Given the description of an element on the screen output the (x, y) to click on. 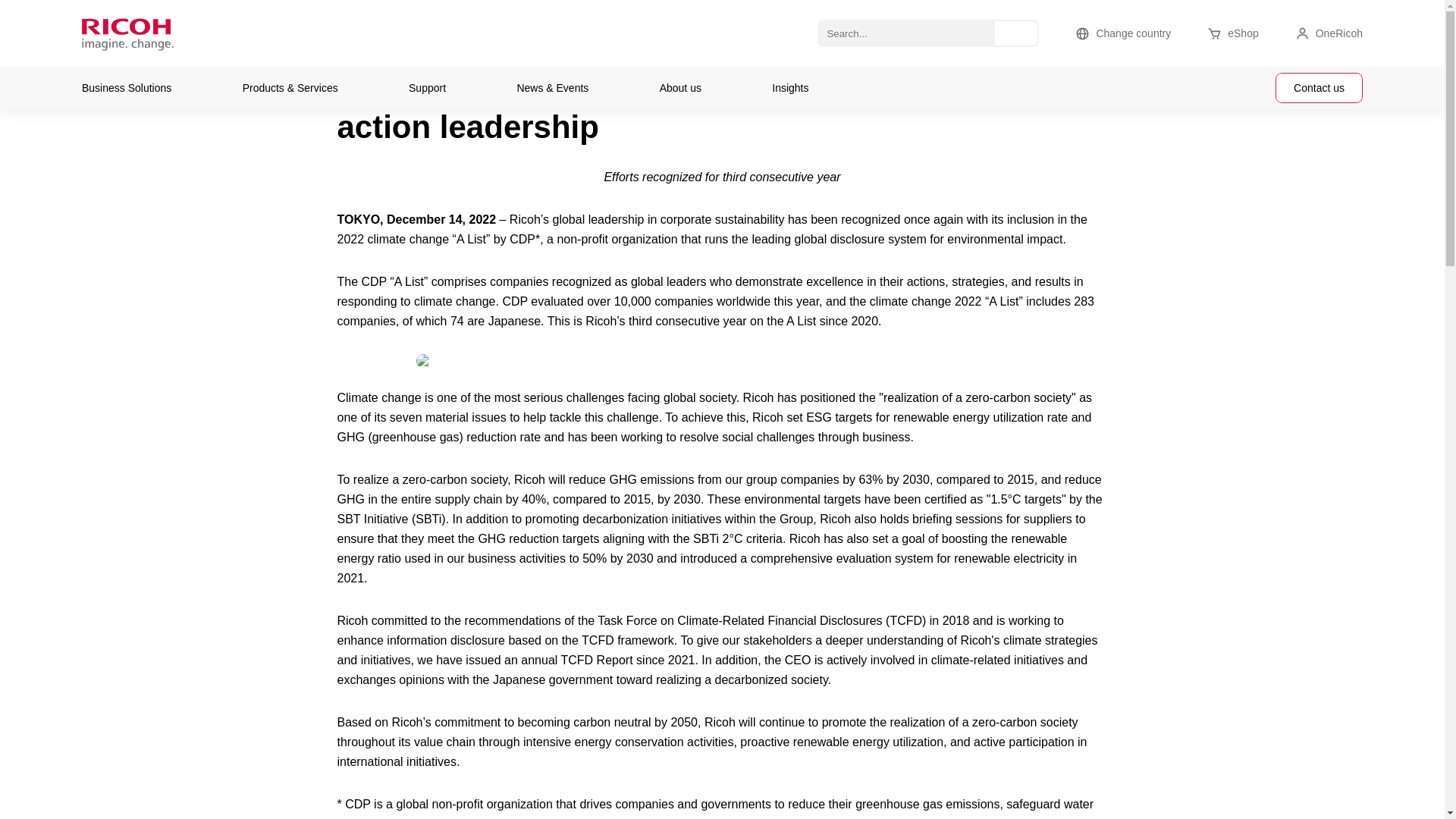
OneRicoh (1328, 32)
Change country (1122, 32)
Logo (179, 32)
Support (427, 87)
Contact us  (1318, 87)
eShop (1232, 32)
About us (680, 87)
About us (680, 87)
Contact us (1318, 87)
Support (427, 87)
